Given the description of an element on the screen output the (x, y) to click on. 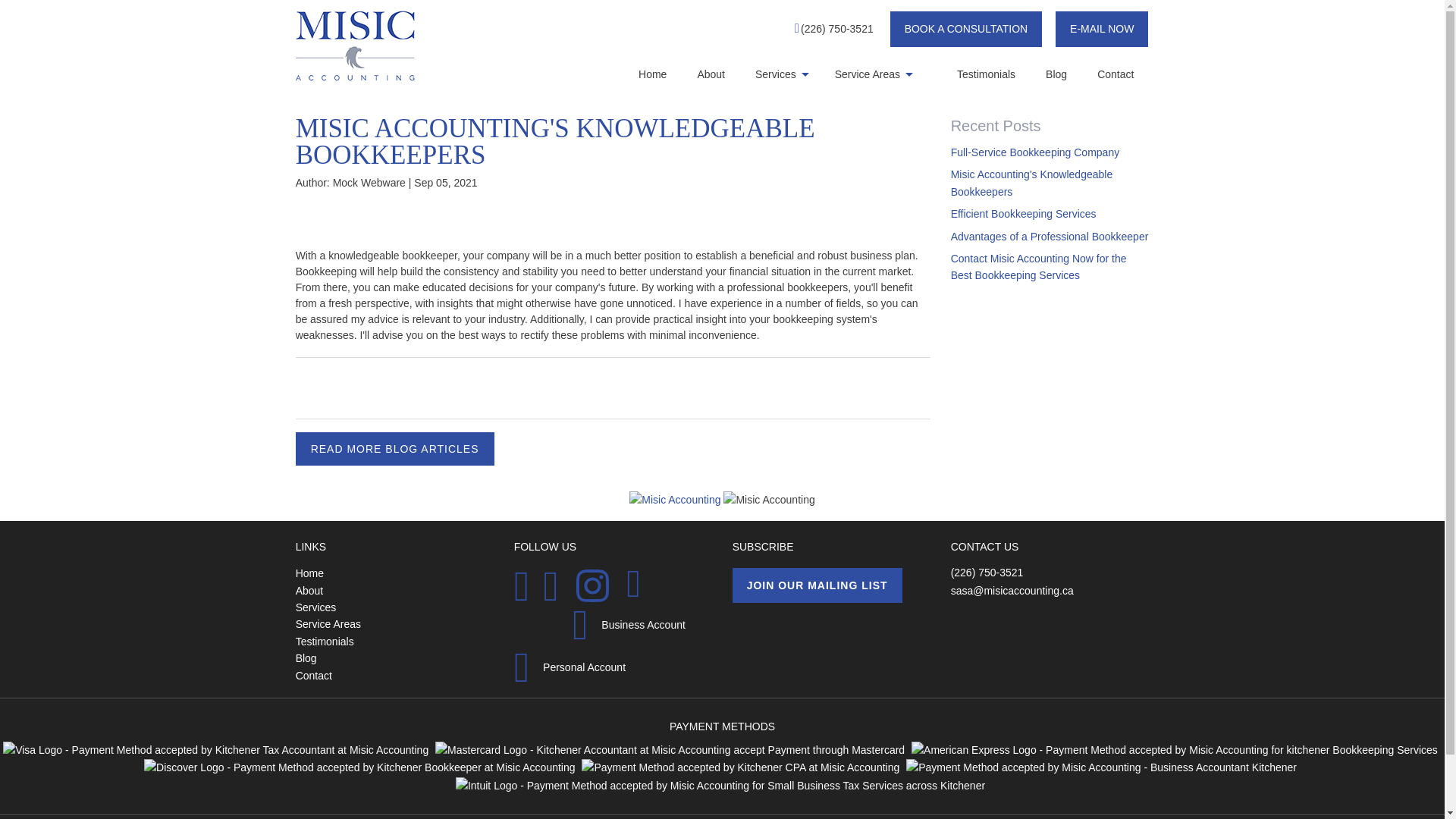
Service Areas (895, 74)
About (726, 74)
READ MORE BLOG ARTICLES (395, 449)
BOOK A CONSULTATION (966, 28)
Contact (1130, 74)
Blog (1071, 74)
Services (804, 74)
Home (668, 74)
Full-Service Bookkeeping Company (1034, 152)
Testimonials (1000, 74)
